Given the description of an element on the screen output the (x, y) to click on. 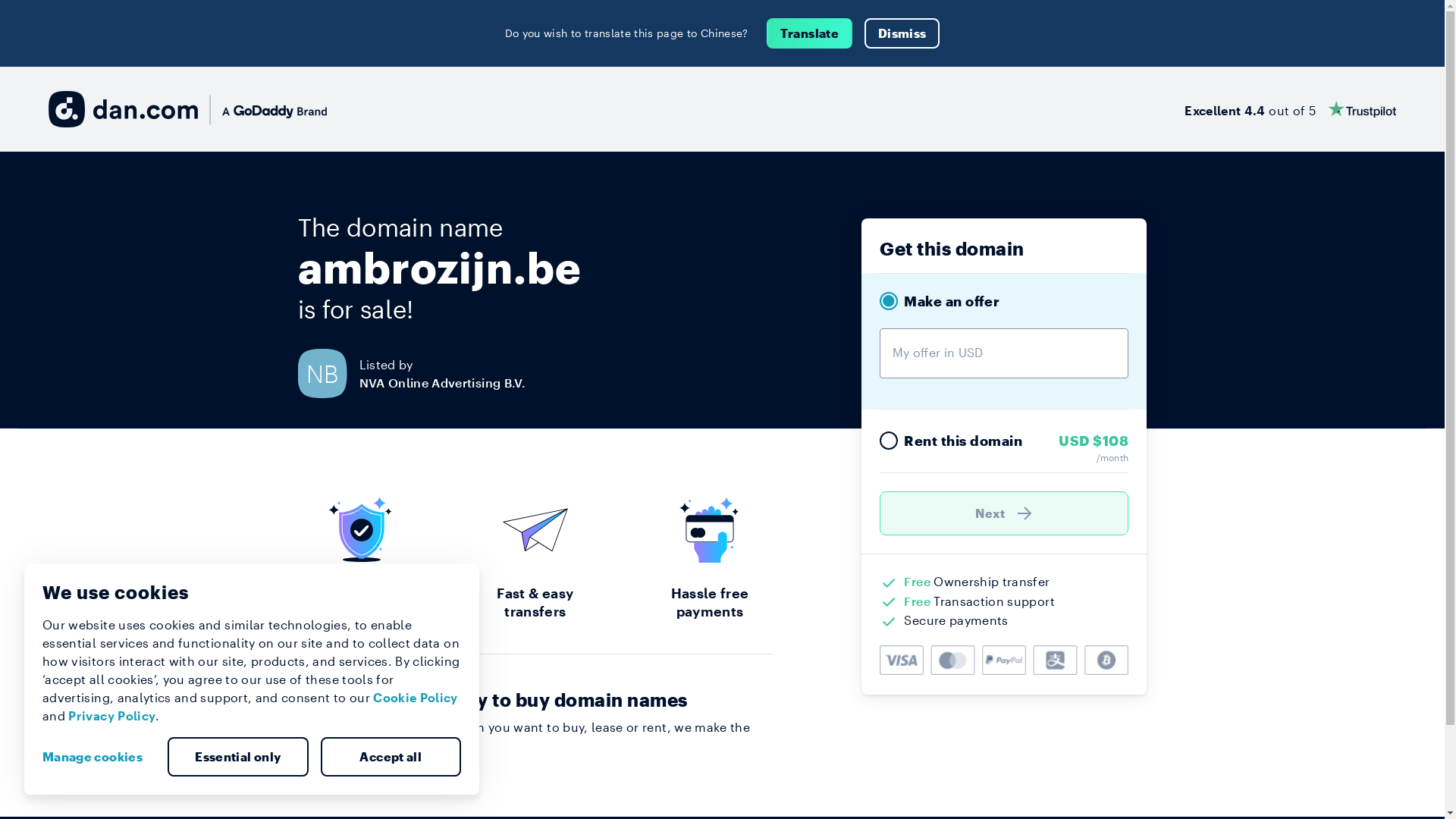
Dismiss Element type: text (901, 33)
Next
) Element type: text (1003, 513)
Cookie Policy Element type: text (415, 697)
Privacy Policy Element type: text (111, 715)
Essential only Element type: text (237, 756)
Accept all Element type: text (390, 756)
Excellent 4.4 out of 5 Element type: text (1290, 109)
Translate Element type: text (809, 33)
Manage cookies Element type: text (98, 756)
